Given the description of an element on the screen output the (x, y) to click on. 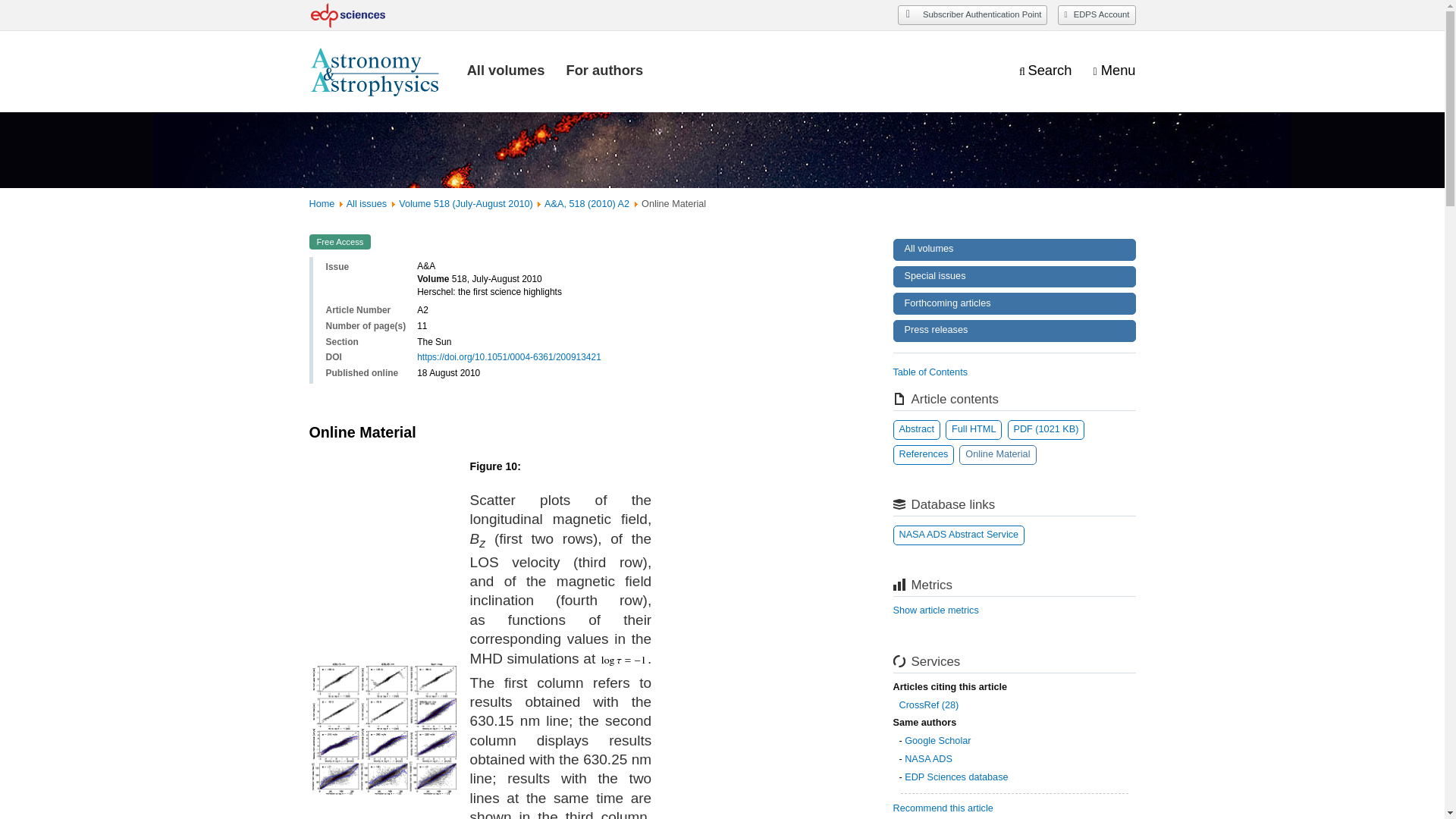
Article abstracts available on the Astrophysics Data System (959, 535)
Menu (1114, 71)
Full HTML (972, 429)
All volumes (505, 70)
Abstract (916, 429)
Online Material (997, 455)
References (924, 455)
Journal homepage (376, 71)
For authors (604, 70)
Display the search engine (1045, 71)
